Given the description of an element on the screen output the (x, y) to click on. 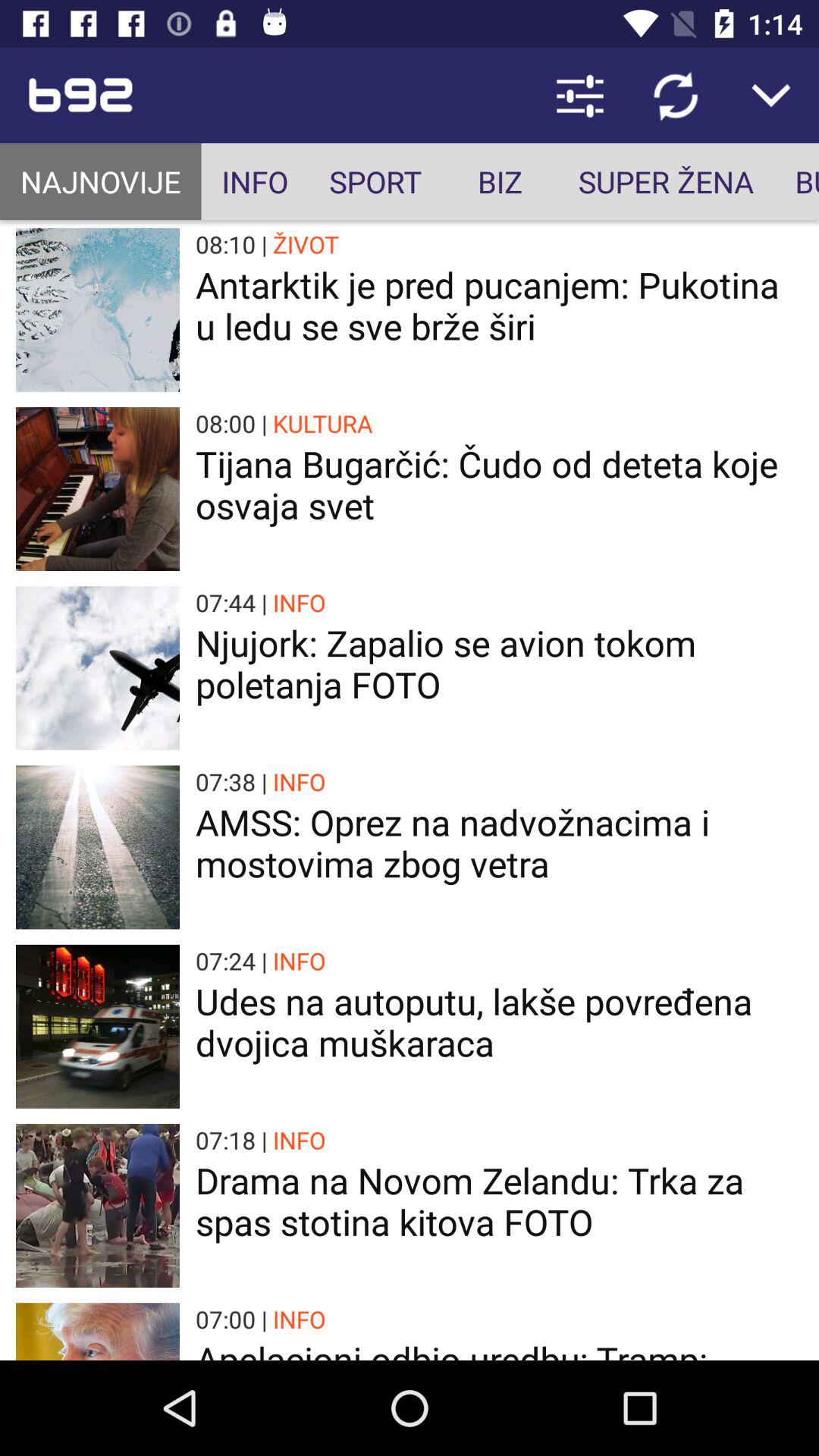
press item next to info item (100, 181)
